Given the description of an element on the screen output the (x, y) to click on. 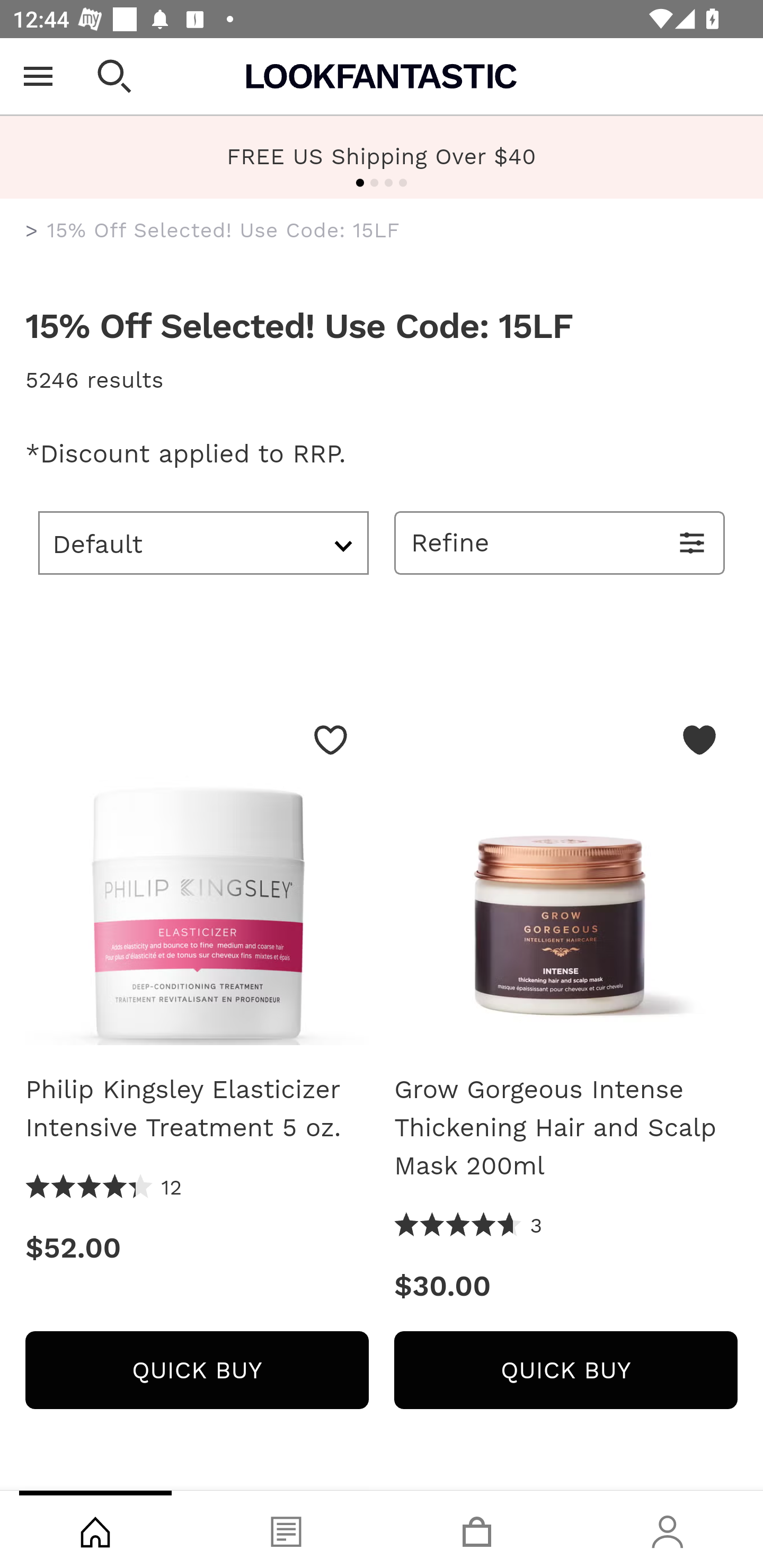
Open Menu (38, 75)
Open search (114, 75)
Lookfantastic USA (381, 75)
FREE US Shipping Over $40 (381, 157)
FREE US Shipping Over $40 (381, 155)
us.lookfantastic (32, 230)
Default (203, 542)
Refine (559, 542)
Save to Wishlist (330, 740)
Saved to Wishlist (698, 740)
4.33 Stars 12 Reviews (104, 1187)
4.67 Stars 3 Reviews (468, 1225)
Price: $52.00 (196, 1247)
Price: $30.00 (565, 1286)
Shop, tab, 1 of 4 (95, 1529)
Blog, tab, 2 of 4 (285, 1529)
Basket, tab, 3 of 4 (476, 1529)
Account, tab, 4 of 4 (667, 1529)
